Given the description of an element on the screen output the (x, y) to click on. 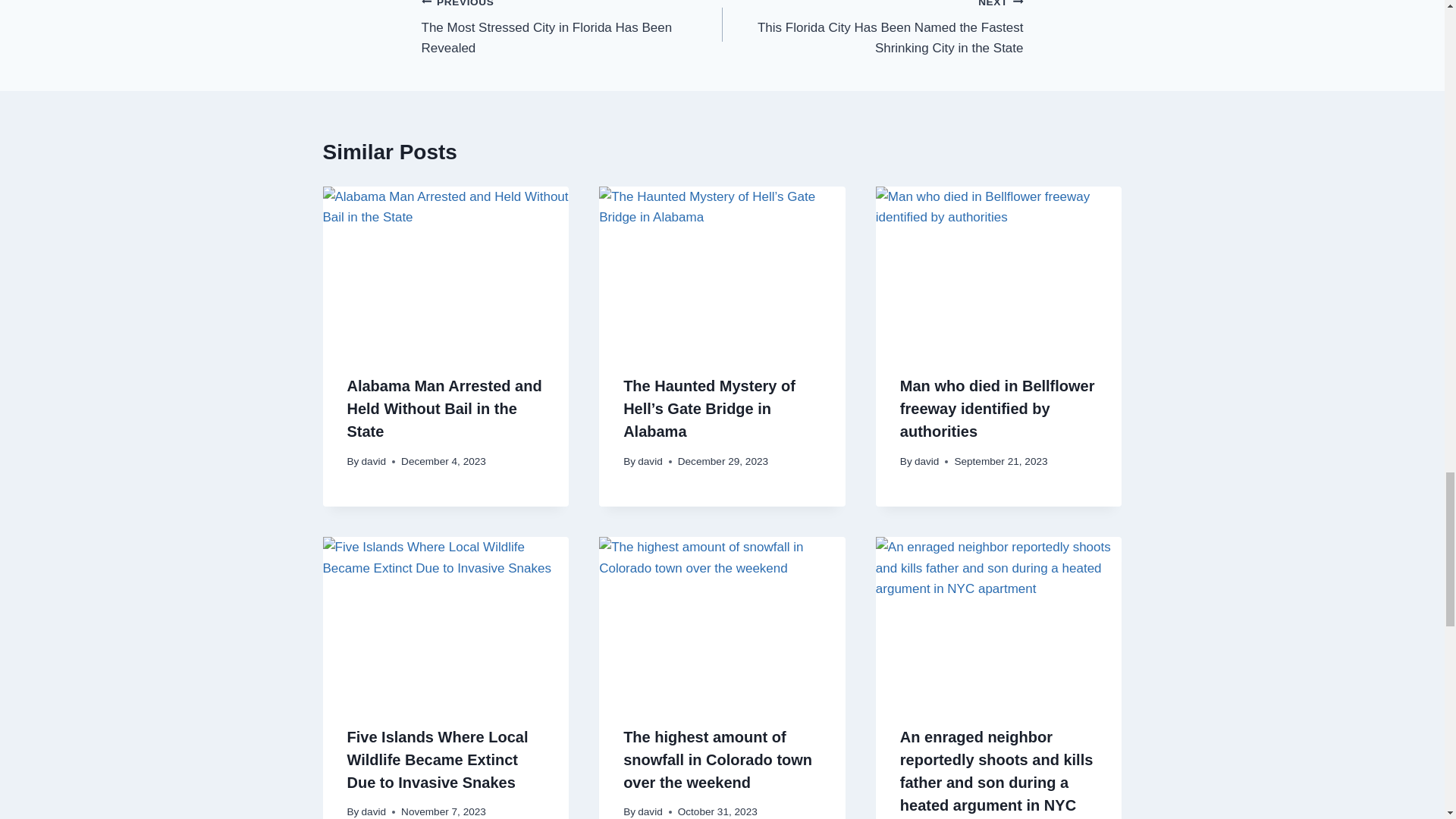
david (649, 460)
Man who died in Bellflower freeway identified by authorities (572, 29)
david (996, 408)
david (926, 460)
david (374, 811)
david (649, 811)
Alabama Man Arrested and Held Without Bail in the State (374, 460)
